Given the description of an element on the screen output the (x, y) to click on. 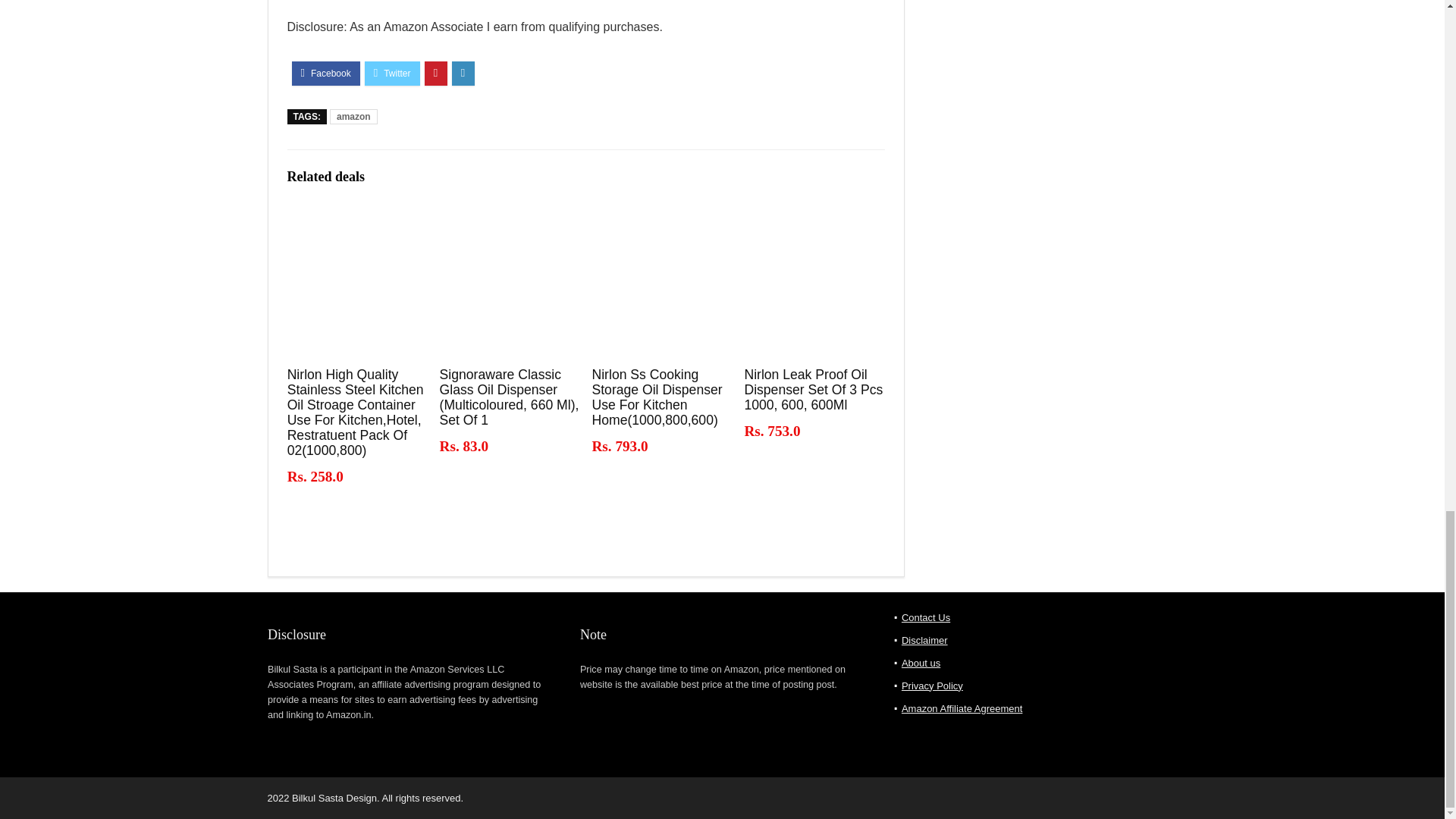
amazon (353, 116)
